Given the description of an element on the screen output the (x, y) to click on. 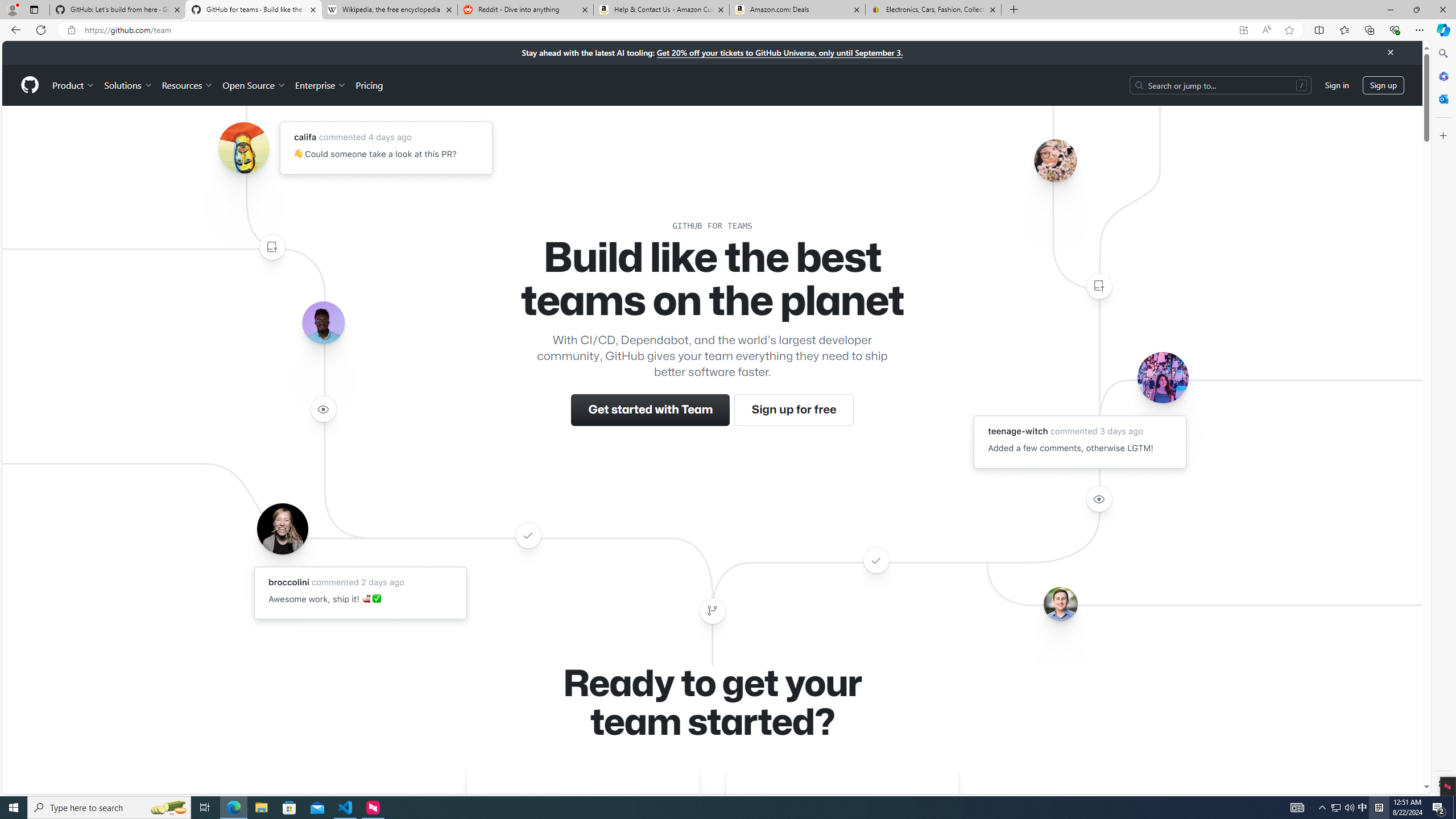
Wikipedia, the free encyclopedia (390, 9)
Enterprise (319, 84)
Class: color-fg-muted width-full (711, 610)
Help & Contact Us - Amazon Customer Service (660, 9)
Sign up for free (793, 409)
